Given the description of an element on the screen output the (x, y) to click on. 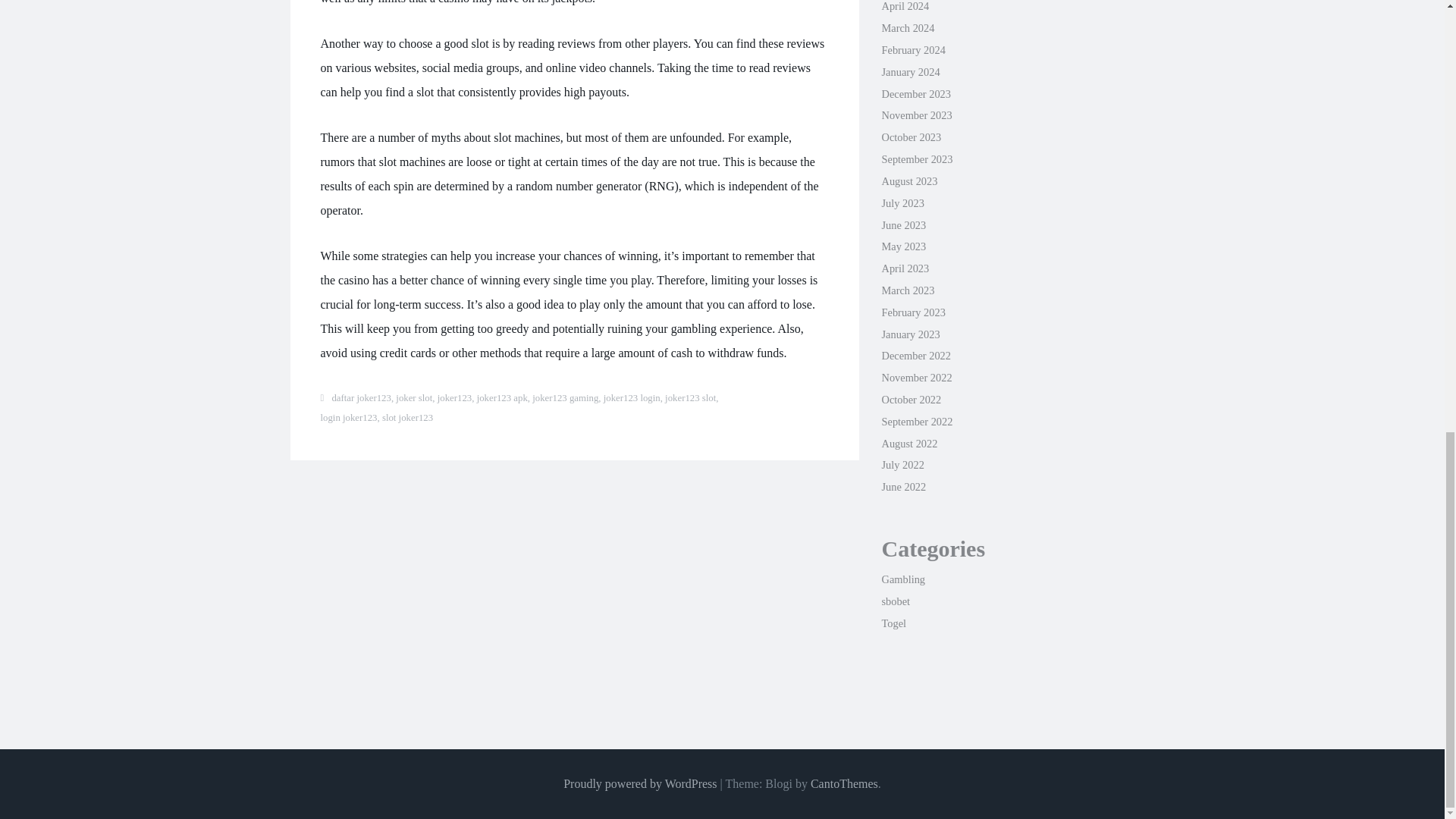
February 2024 (912, 50)
joker123 gaming (565, 398)
August 2023 (908, 181)
December 2023 (915, 93)
daftar joker123 (361, 398)
January 2024 (909, 71)
July 2023 (901, 203)
October 2023 (910, 137)
joker123 apk (502, 398)
slot joker123 (406, 417)
March 2024 (907, 28)
April 2024 (904, 6)
login joker123 (348, 417)
joker123 slot (690, 398)
joker slot (414, 398)
